Given the description of an element on the screen output the (x, y) to click on. 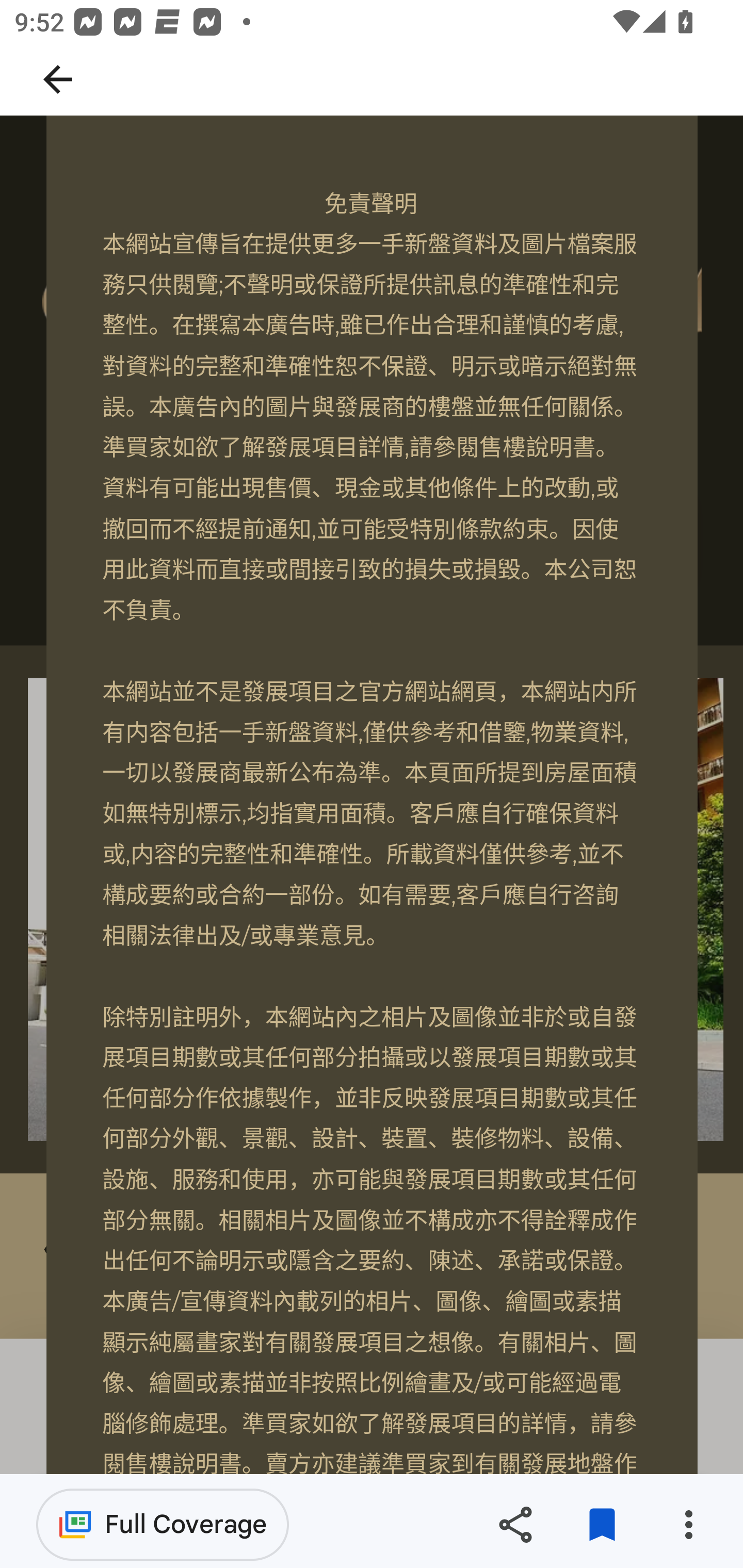
Navigate up (57, 79)
Share (514, 1524)
Remove from saved stories (601, 1524)
More options (688, 1524)
Full Coverage (162, 1524)
